Given the description of an element on the screen output the (x, y) to click on. 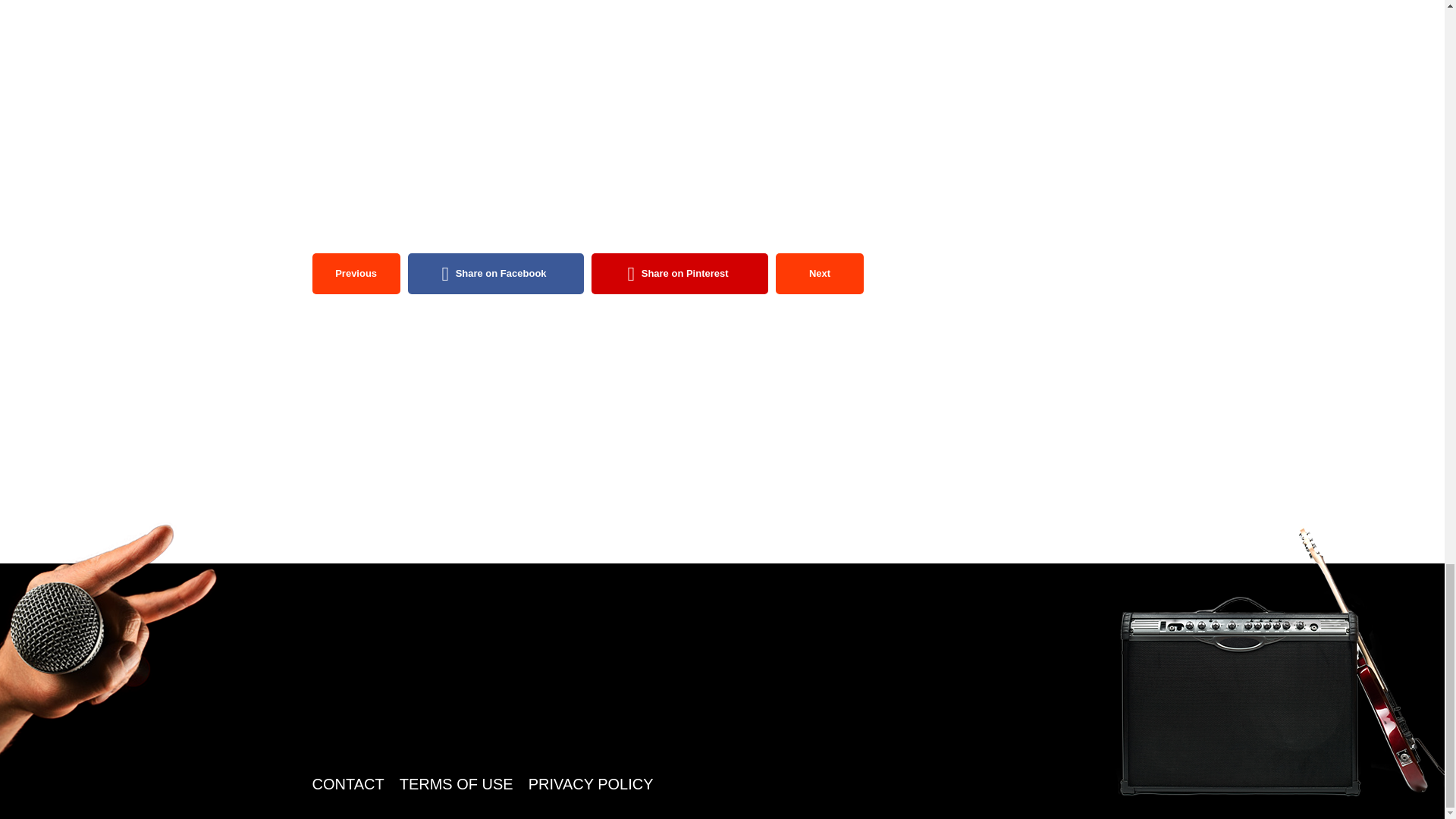
Share on Pinterest (679, 273)
